Given the description of an element on the screen output the (x, y) to click on. 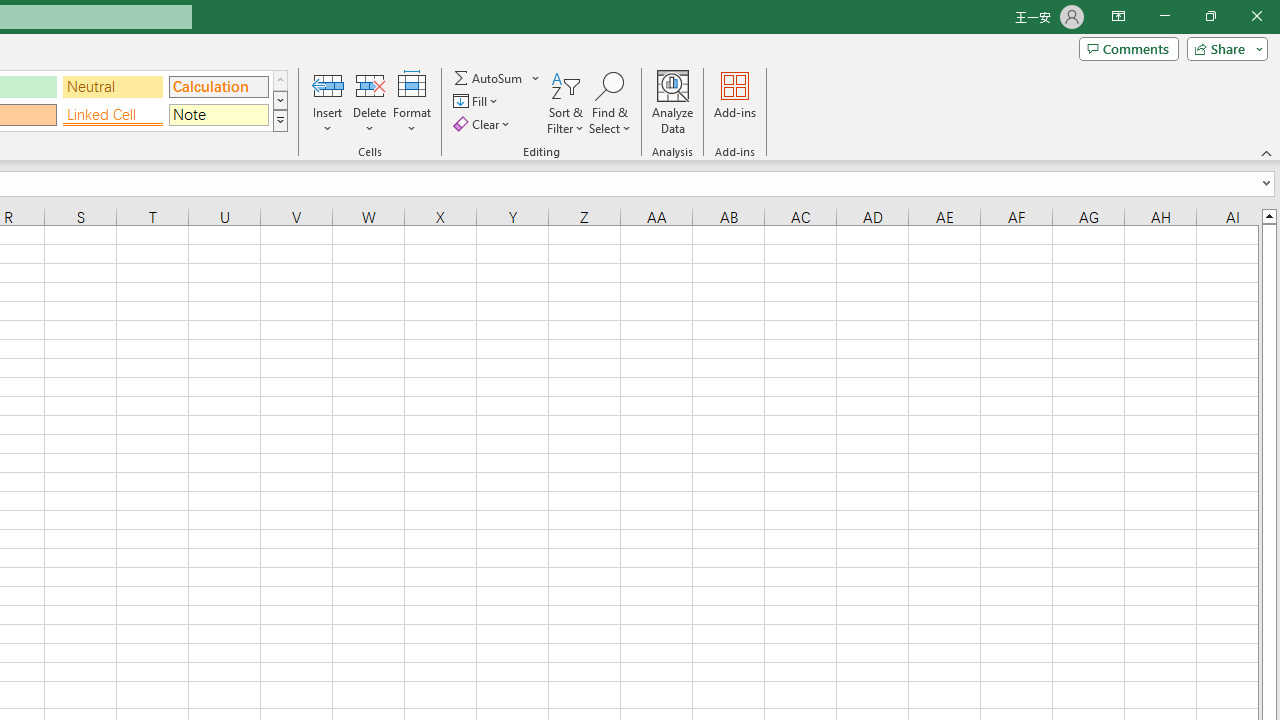
Fill (477, 101)
